Given the description of an element on the screen output the (x, y) to click on. 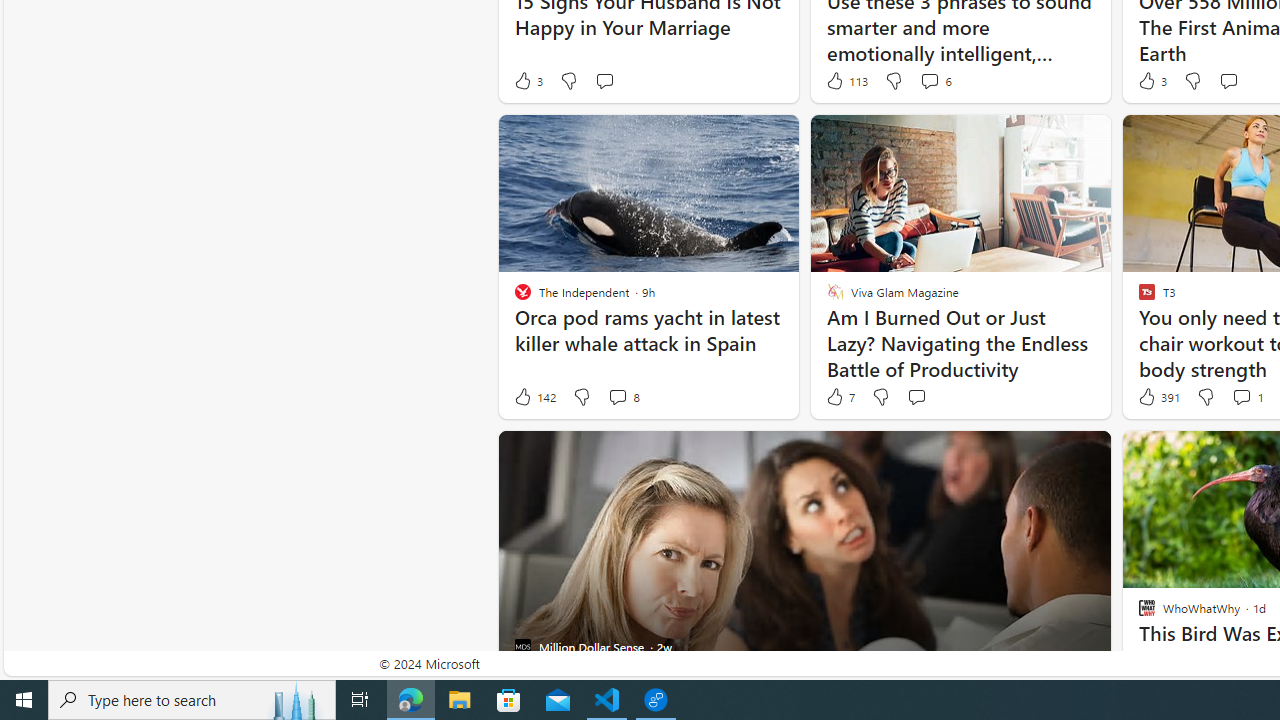
Hide this story (1050, 454)
142 Like (534, 397)
View comments 8 Comment (617, 396)
View comments 6 Comment (935, 80)
3 Like (1151, 80)
View comments 1 Comment (1247, 397)
View comments 6 Comment (929, 80)
113 Like (845, 80)
7 Like (839, 397)
391 Like (1157, 397)
